Given the description of an element on the screen output the (x, y) to click on. 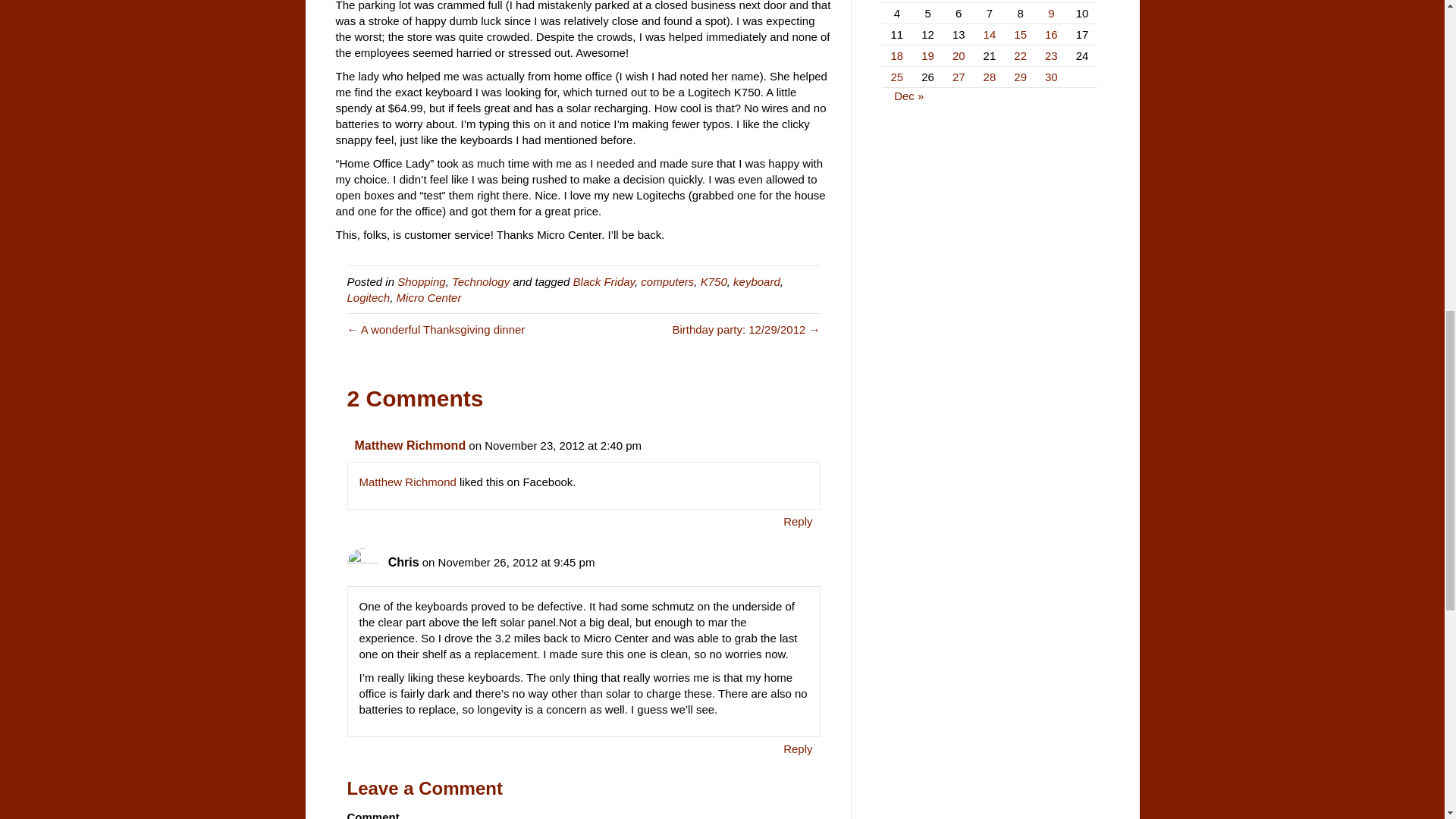
Logitech (368, 297)
Shopping (421, 281)
computers (667, 281)
Technology (480, 281)
Matthew Richmond (408, 481)
Matthew Richmond (410, 445)
keyboard (756, 281)
Reply (796, 521)
K750 (713, 281)
Reply (796, 748)
Black Friday (603, 281)
Micro Center (428, 297)
